Given the description of an element on the screen output the (x, y) to click on. 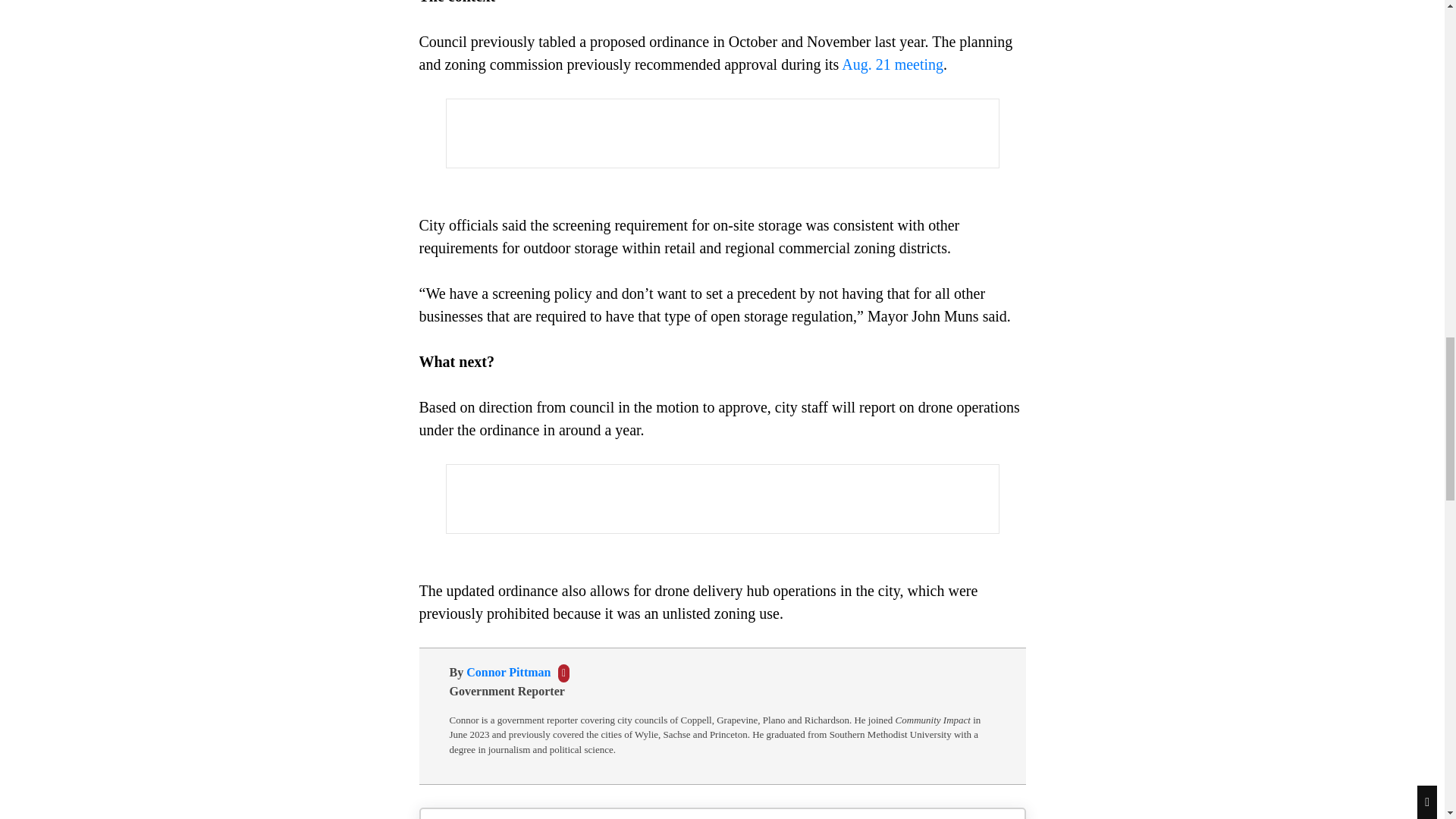
3rd party ad content (721, 133)
3rd party ad content (721, 499)
